Given the description of an element on the screen output the (x, y) to click on. 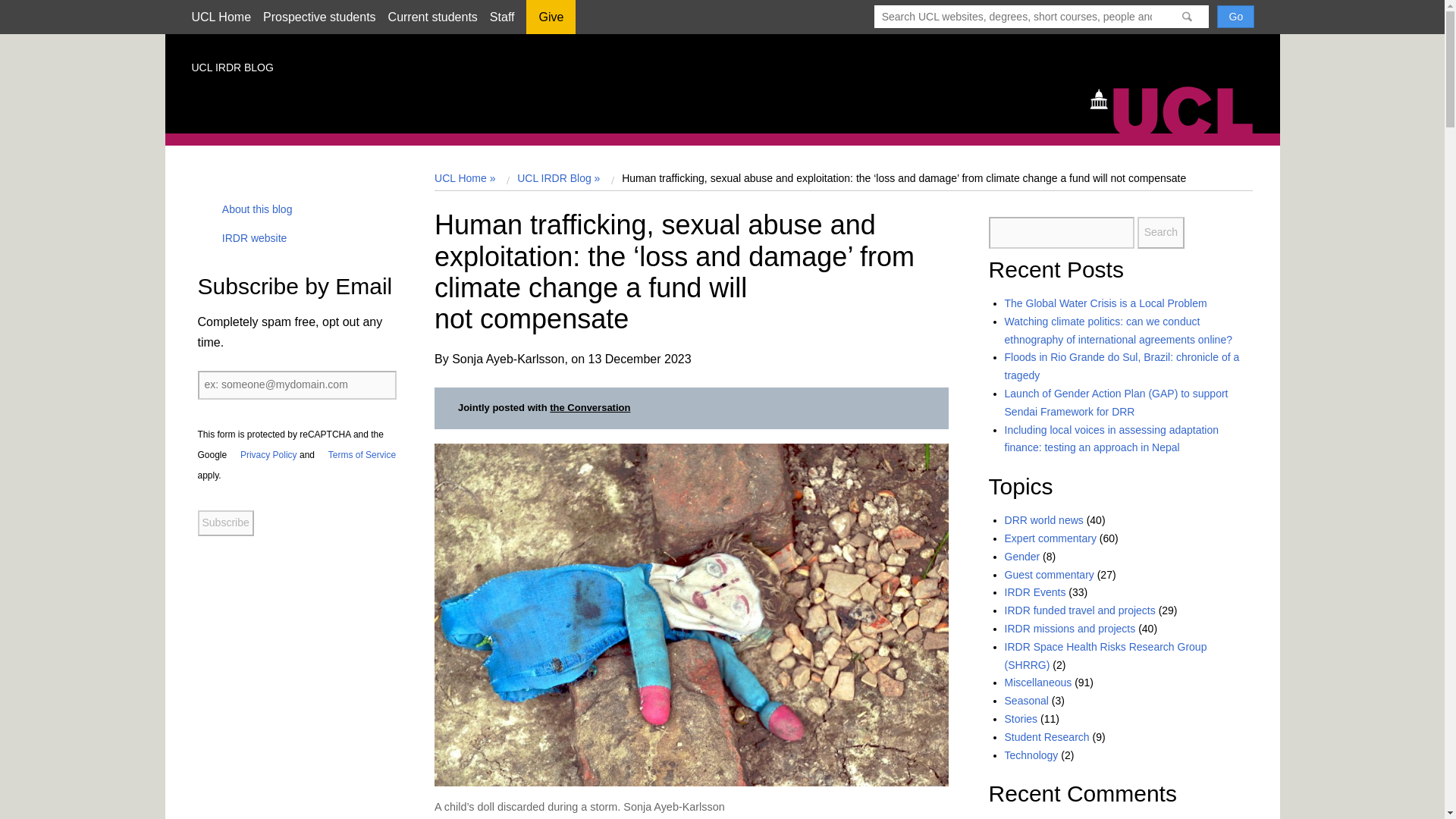
UCL Home (220, 16)
Give (550, 22)
Subscribe (224, 523)
Prospective students (319, 16)
Go (1235, 15)
Privacy Policy (263, 454)
IRDR website (249, 237)
Go (1235, 15)
About this blog (252, 209)
Staff (502, 16)
Current students (432, 16)
Search (1161, 232)
Terms of Service (356, 454)
Go (1235, 15)
Jointly posted with the Conversation (544, 407)
